Given the description of an element on the screen output the (x, y) to click on. 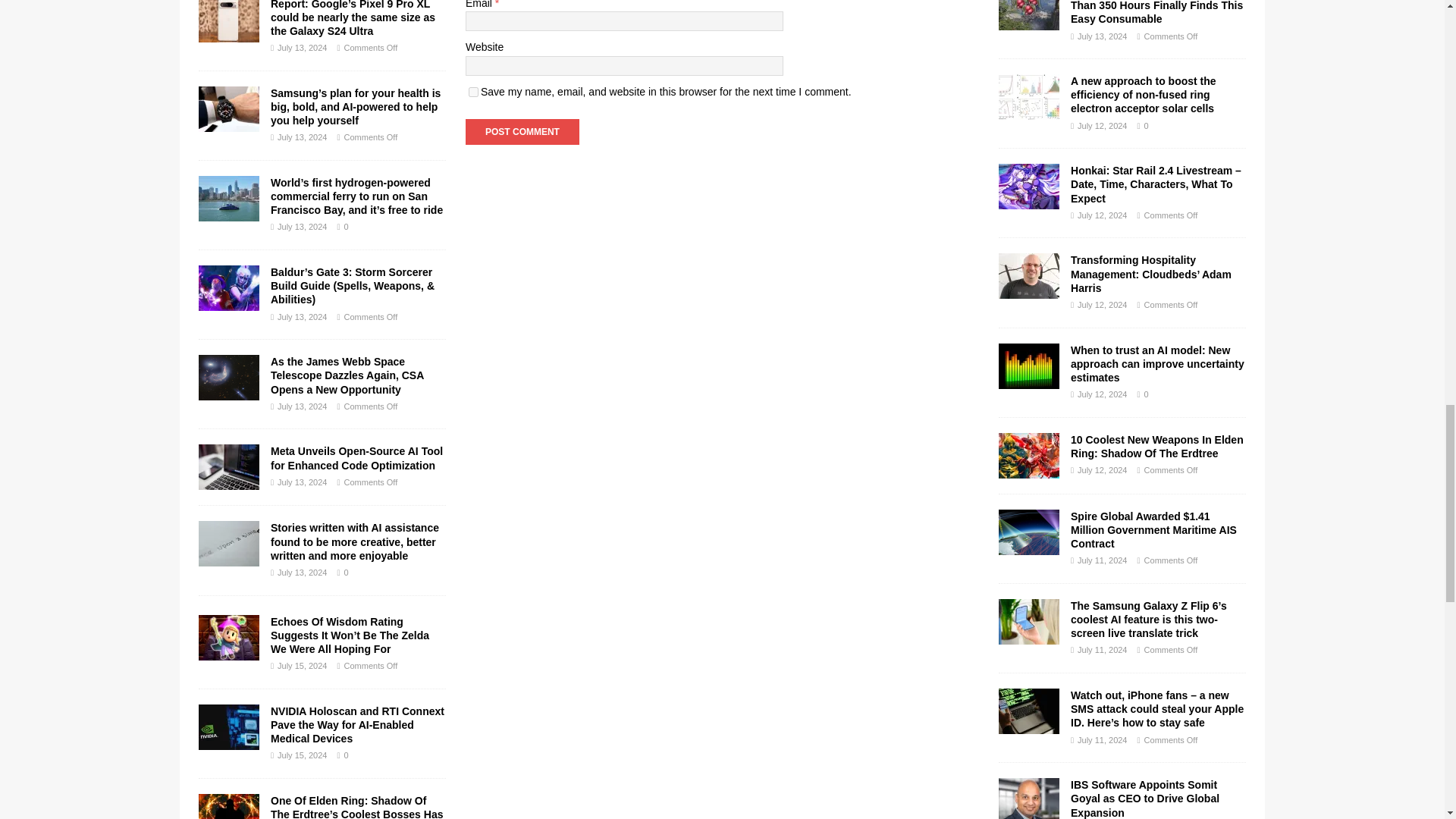
Post Comment (522, 131)
yes (473, 91)
